Given the description of an element on the screen output the (x, y) to click on. 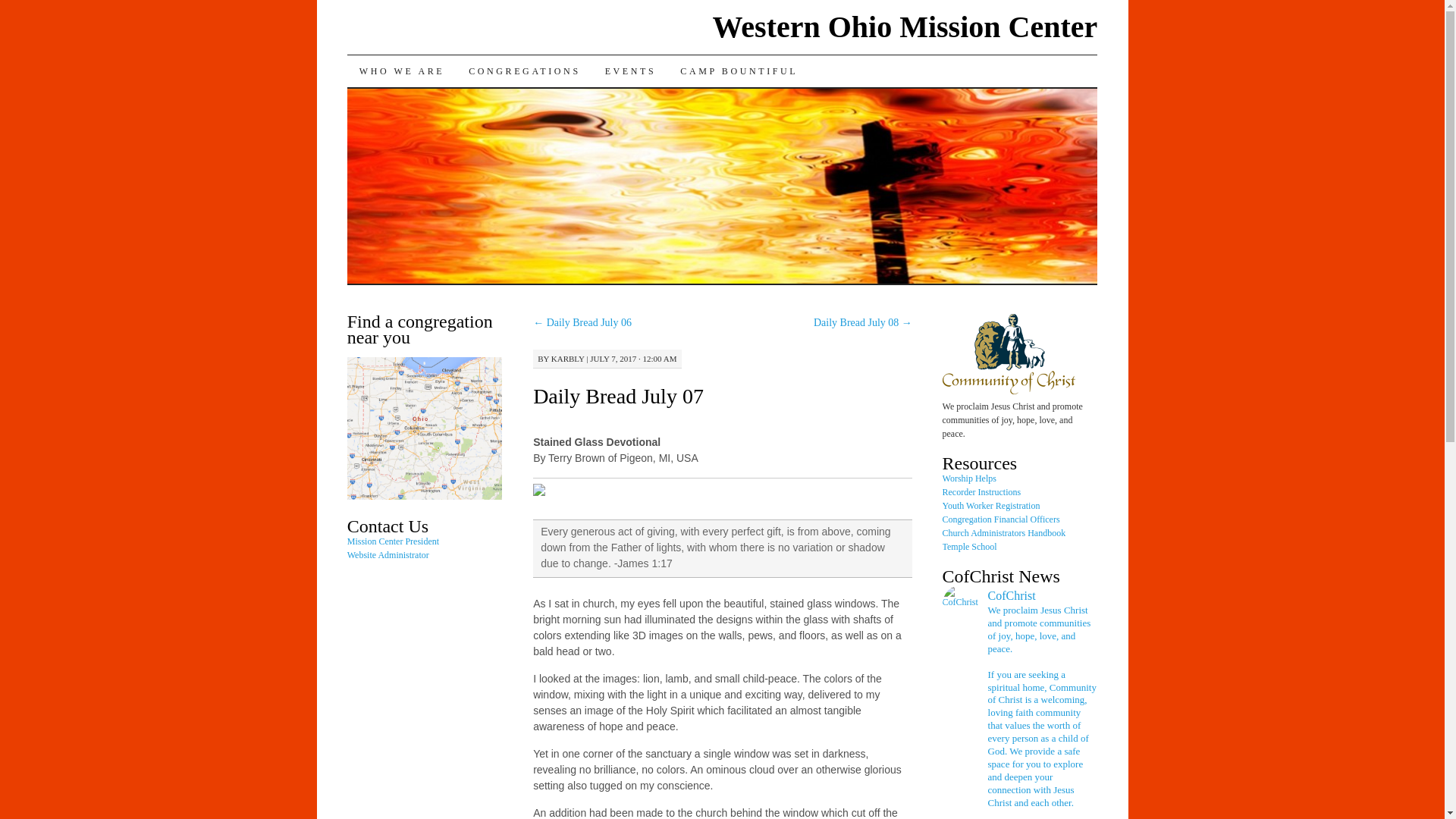
EVENTS (630, 70)
View all posts by karbly (568, 358)
Mission Center President (393, 541)
Daily Bread July 07 (617, 395)
Youth Worker Registration (991, 505)
Western Ohio Mission Center (905, 26)
Church Administrators Handbook (1003, 532)
CAMP BOUNTIFUL (738, 70)
Worship Helps (968, 478)
Temple School (969, 546)
